Given the description of an element on the screen output the (x, y) to click on. 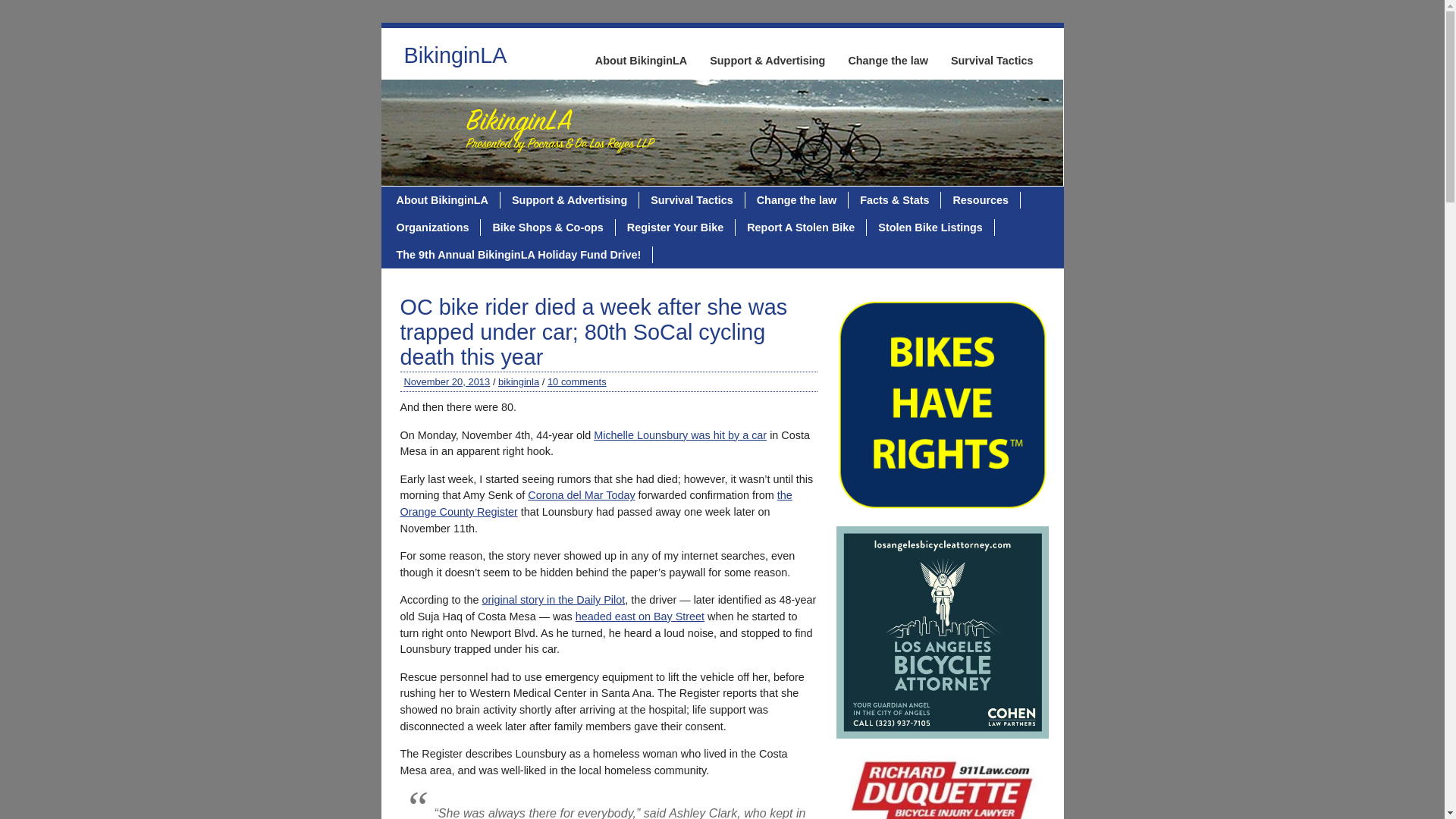
bikinginla (517, 381)
original story in the Daily Pilot (553, 599)
the Orange County Register (596, 502)
Corona del Mar Today (580, 494)
Organizations (433, 227)
BikinginLA (454, 59)
Survival Tactics (692, 199)
Stolen Bike Listings (930, 227)
Resources (980, 199)
Report A Stolen Bike (800, 227)
